Given the description of an element on the screen output the (x, y) to click on. 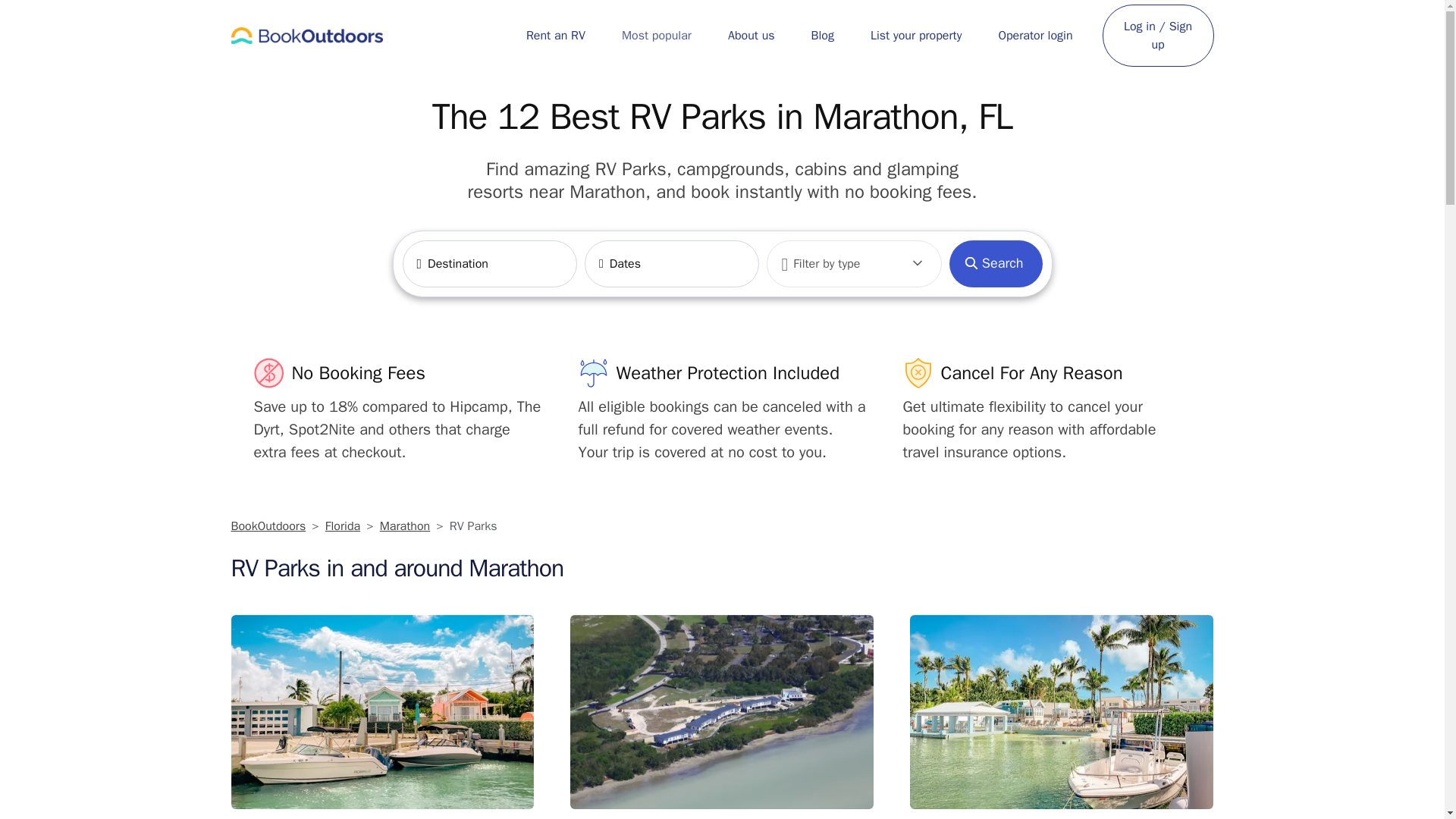
Search (995, 263)
Marathon (404, 525)
Filter by type (853, 263)
Operator login (1034, 35)
List your property (916, 35)
Rent an RV (555, 35)
About us (751, 35)
Most popular (656, 35)
Florida (341, 525)
